Given the description of an element on the screen output the (x, y) to click on. 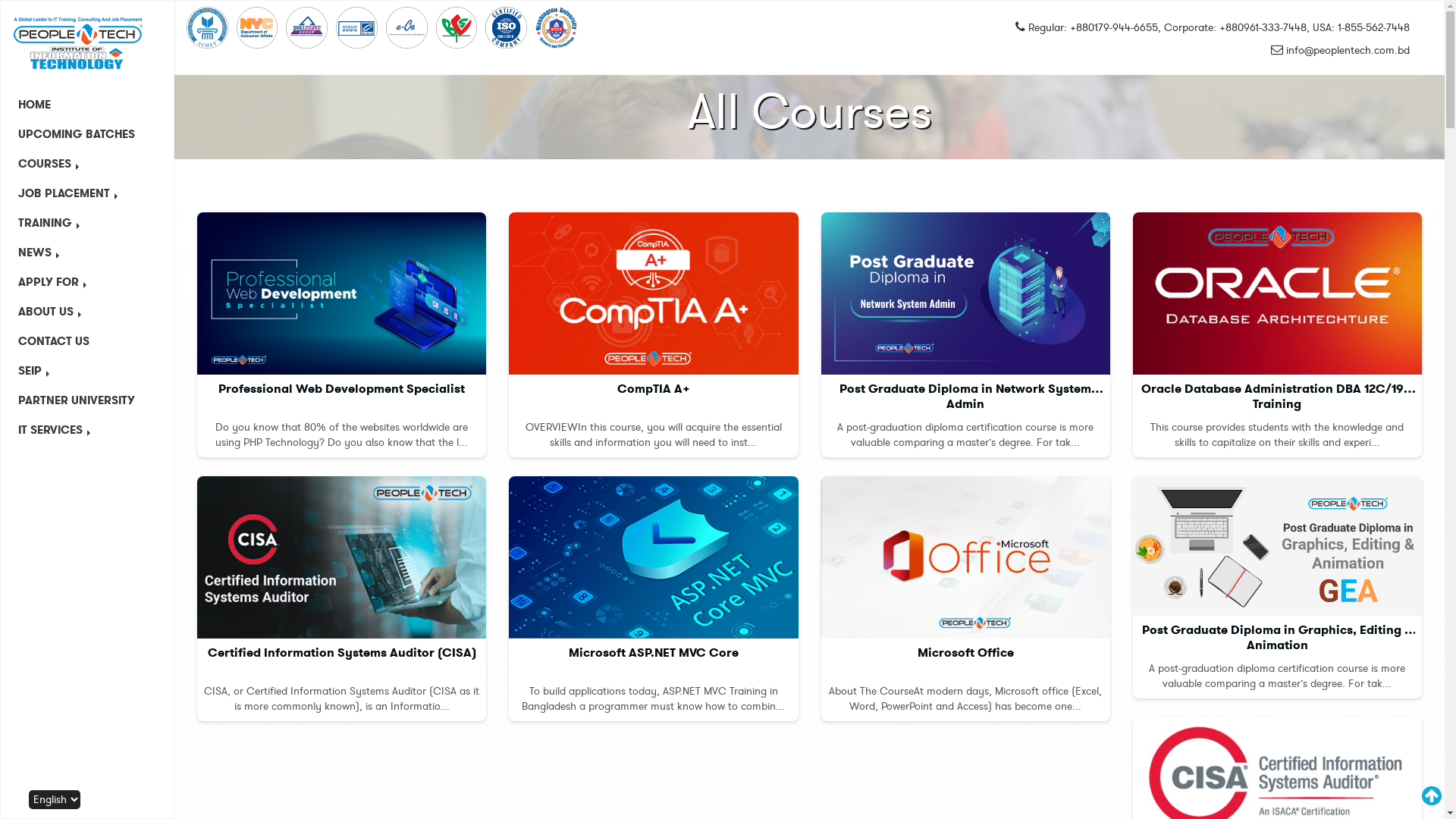
Professional Web Development Specialist Element type: hover (341, 293)
PeopleNTech Certification Element type: hover (456, 27)
COURSES Element type: text (86, 163)
PeopleNTech Certification Element type: hover (406, 27)
JOB PLACEMENT Element type: text (86, 193)
PeopleNTech Certification Element type: hover (257, 27)
APPLY FOR Element type: text (86, 282)
PeopleNTech Certification Element type: hover (556, 27)
CONTACT US Element type: text (86, 341)
PeopleNTech Certification Element type: hover (506, 27)
PARTNER UNIVERSITY Element type: text (86, 400)
Microsoft ASP.NET MVC Core Element type: hover (652, 557)
PeopleNTech Certification Element type: hover (356, 27)
SEIP Element type: text (86, 370)
Microsoft Office Element type: hover (964, 557)
CompTIA A+ Element type: hover (652, 293)
HOME Element type: text (86, 104)
UPCOMING BATCHES Element type: text (86, 134)
PeopleNTech Institute of Information Technology Element type: hover (78, 43)
NEWS Element type: text (86, 252)
TRAINING Element type: text (86, 223)
Oracle Database Administration DBA 12C/19C Training Element type: hover (1276, 293)
IT SERVICES Element type: text (86, 430)
PeopleNTech Certification Element type: hover (306, 27)
PeopleNTech Certification Element type: hover (207, 27)
Certified Information Systems Auditor (CISA) Element type: hover (341, 557)
ABOUT US Element type: text (86, 311)
Post Graduate Diploma in Network System Admin Element type: hover (964, 293)
Post Graduate Diploma in Graphics, Editing & Animation Element type: hover (1276, 545)
